Given the description of an element on the screen output the (x, y) to click on. 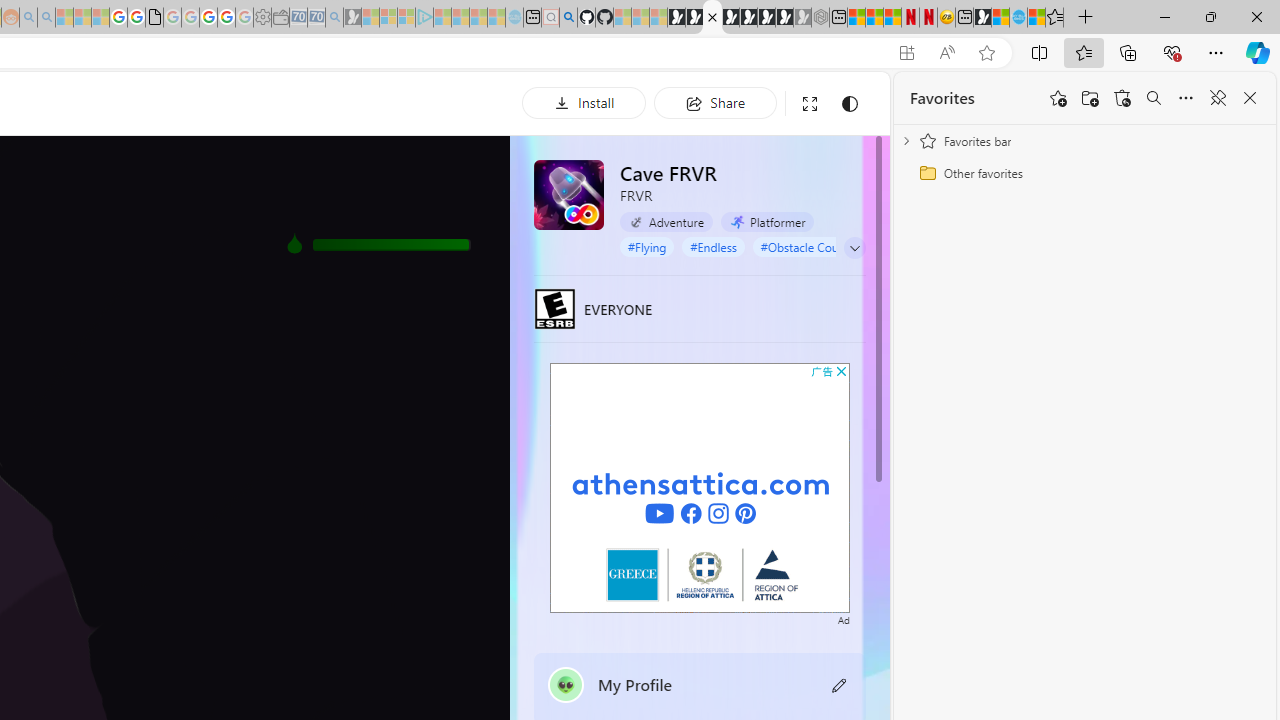
Class: button edit-icon (839, 684)
Cave FRVR (568, 194)
#Obstacle Course (807, 246)
Platformer (767, 221)
Change to dark mode (849, 103)
#Flying (646, 246)
Close favorites (1250, 98)
